Given the description of an element on the screen output the (x, y) to click on. 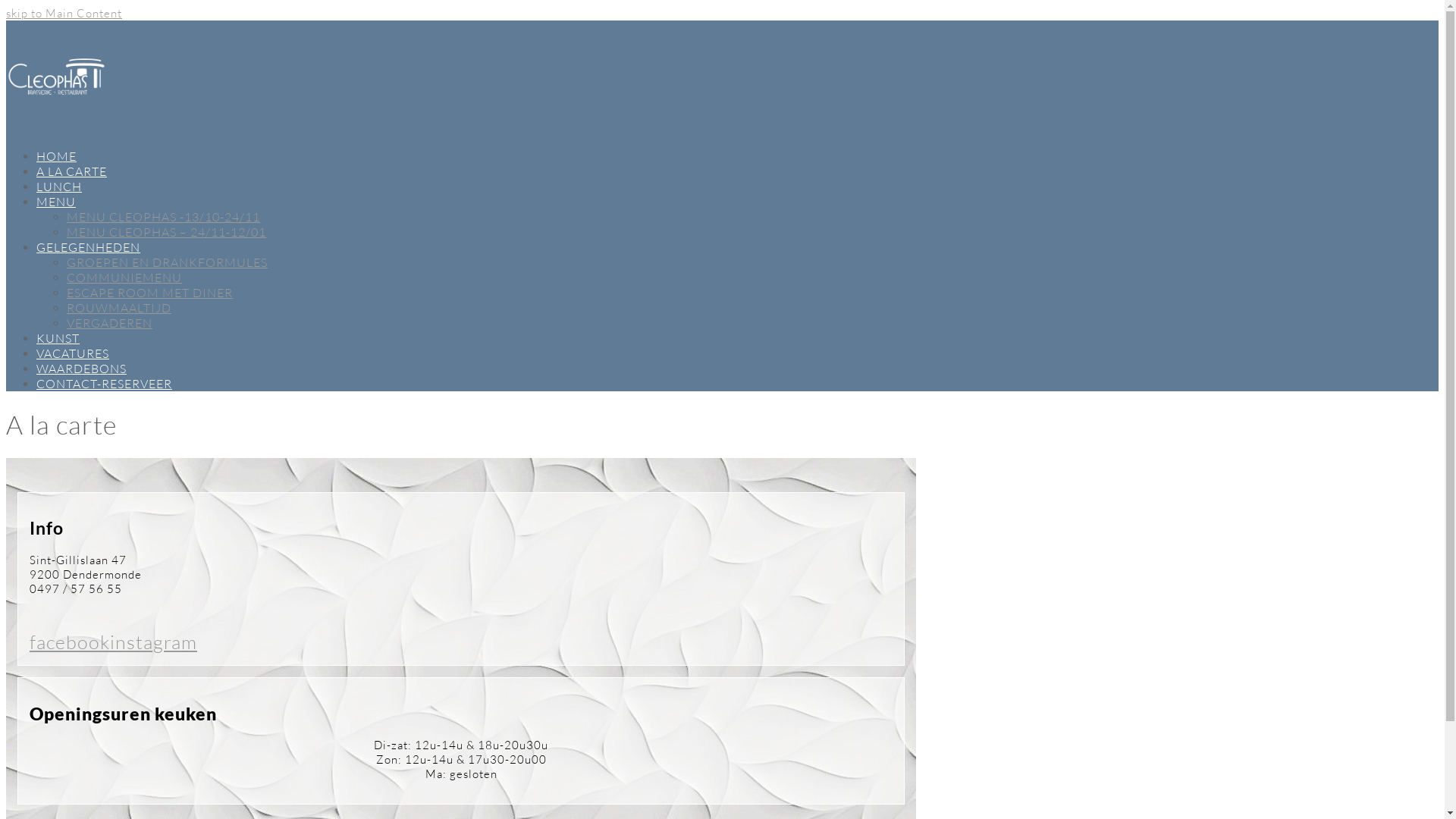
VACATURES Element type: text (72, 352)
HOME Element type: text (56, 155)
skip to Main Content Element type: text (64, 13)
CONTACT-RESERVEER Element type: text (104, 383)
ESCAPE ROOM MET DINER Element type: text (149, 292)
COMMUNIEMENU Element type: text (124, 277)
facebook Element type: text (69, 641)
KUNST Element type: text (57, 337)
A LA CARTE Element type: text (71, 170)
instagram Element type: text (153, 641)
LUNCH Element type: text (58, 186)
GELEGENHEDEN Element type: text (88, 246)
MENU Element type: text (55, 201)
MENU CLEOPHAS -13/10-24/11 Element type: text (163, 216)
GROEPEN EN DRANKFORMULES Element type: text (166, 261)
WAARDEBONS Element type: text (81, 368)
VERGADEREN Element type: text (109, 322)
ROUWMAALTIJD Element type: text (118, 307)
